Given the description of an element on the screen output the (x, y) to click on. 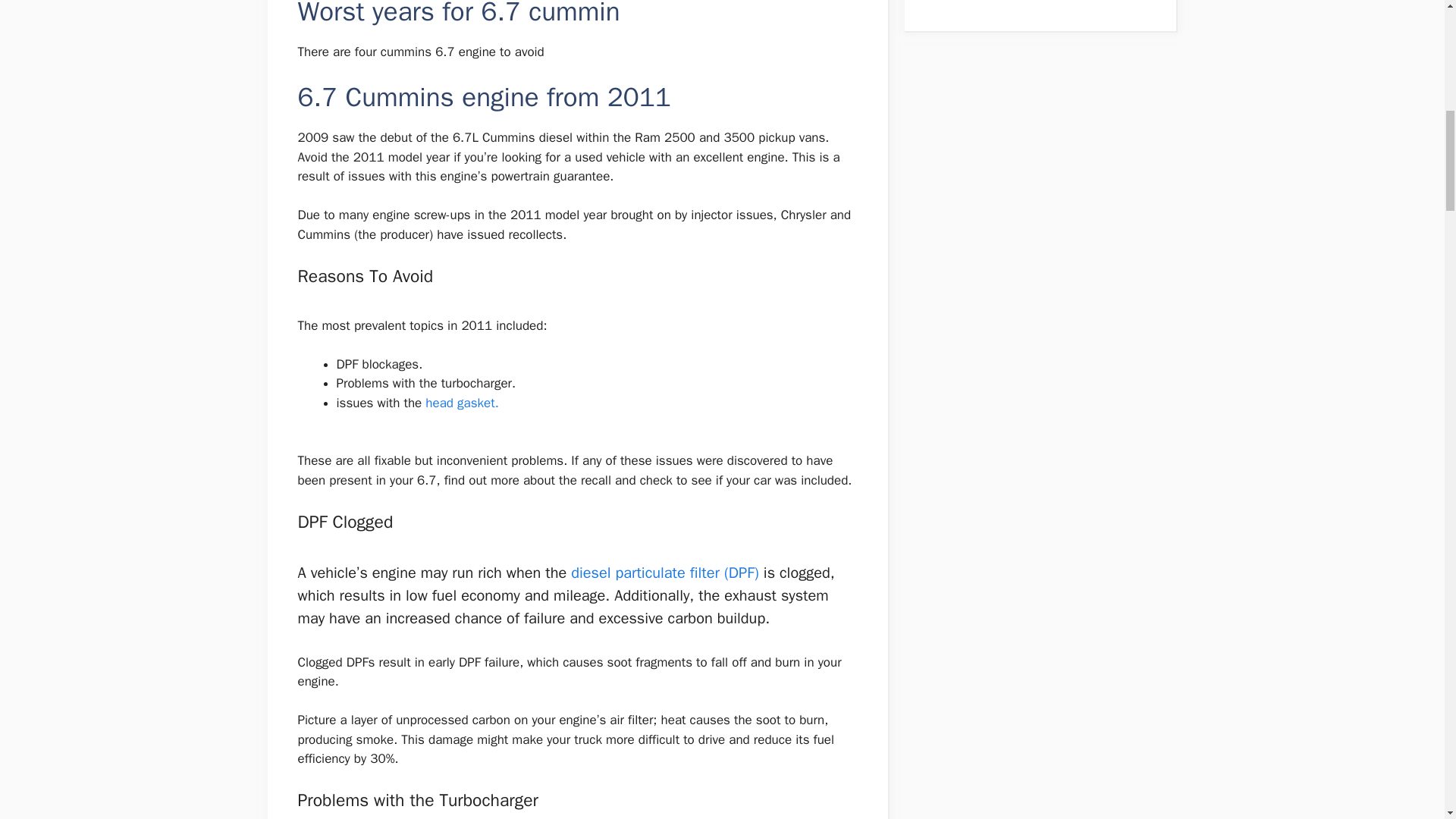
head gasket. (460, 402)
Scroll back to top (1406, 720)
